Given the description of an element on the screen output the (x, y) to click on. 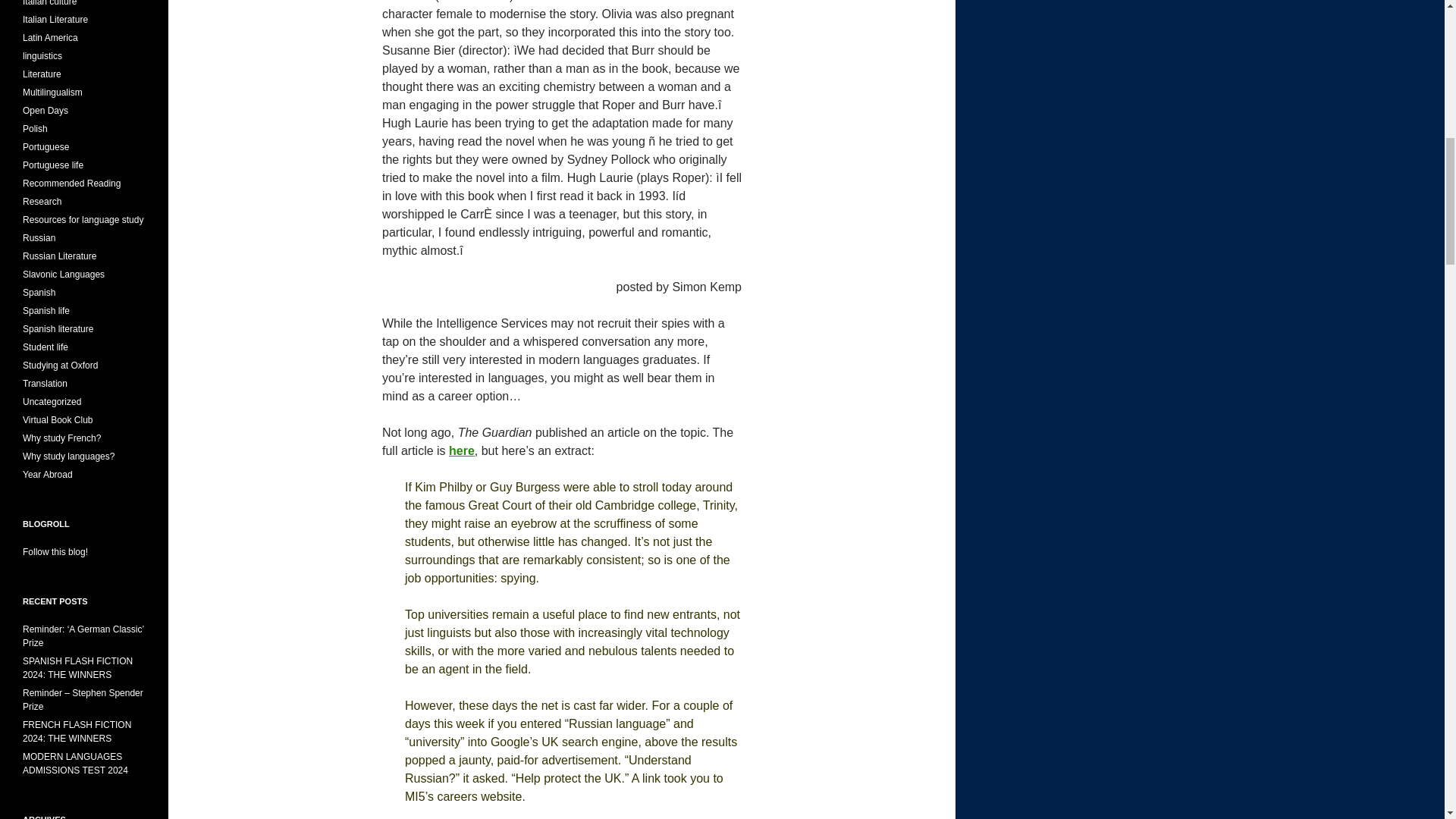
Italian culture (50, 3)
Receive an email alert for new posts on the blog  (55, 552)
here (461, 450)
